Given the description of an element on the screen output the (x, y) to click on. 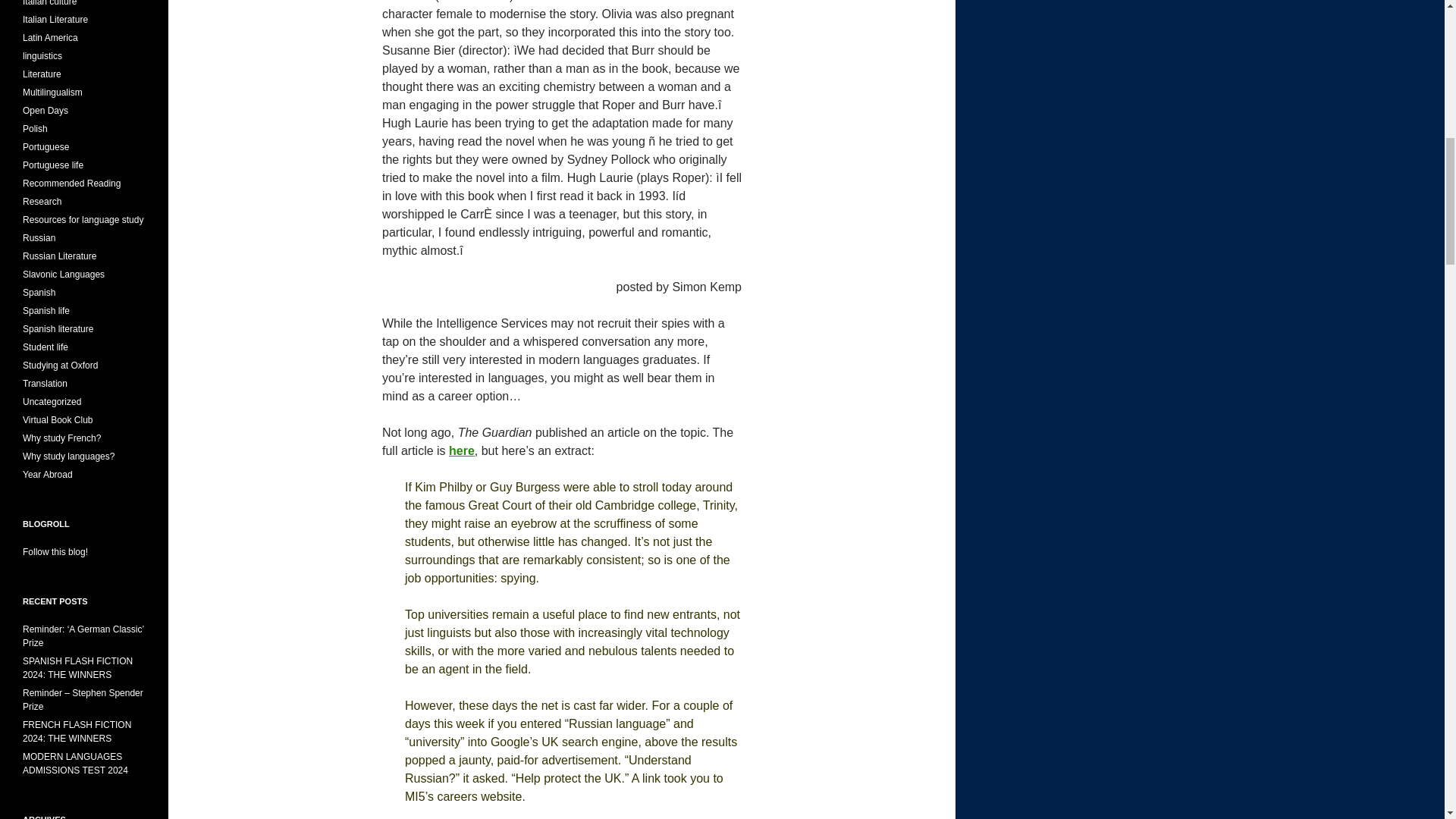
Italian culture (50, 3)
Receive an email alert for new posts on the blog  (55, 552)
here (461, 450)
